Given the description of an element on the screen output the (x, y) to click on. 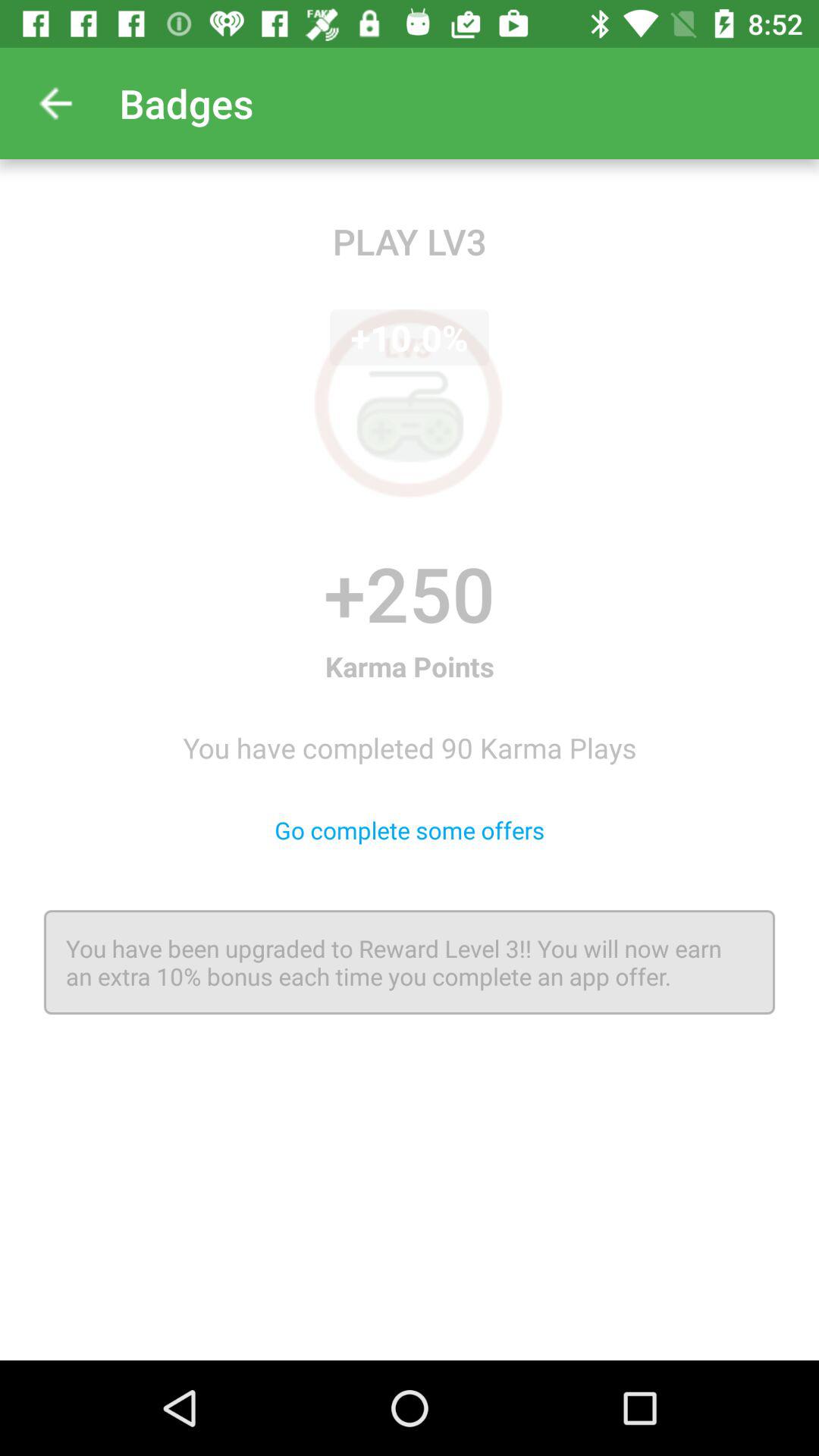
click app to the left of the badges item (55, 103)
